Given the description of an element on the screen output the (x, y) to click on. 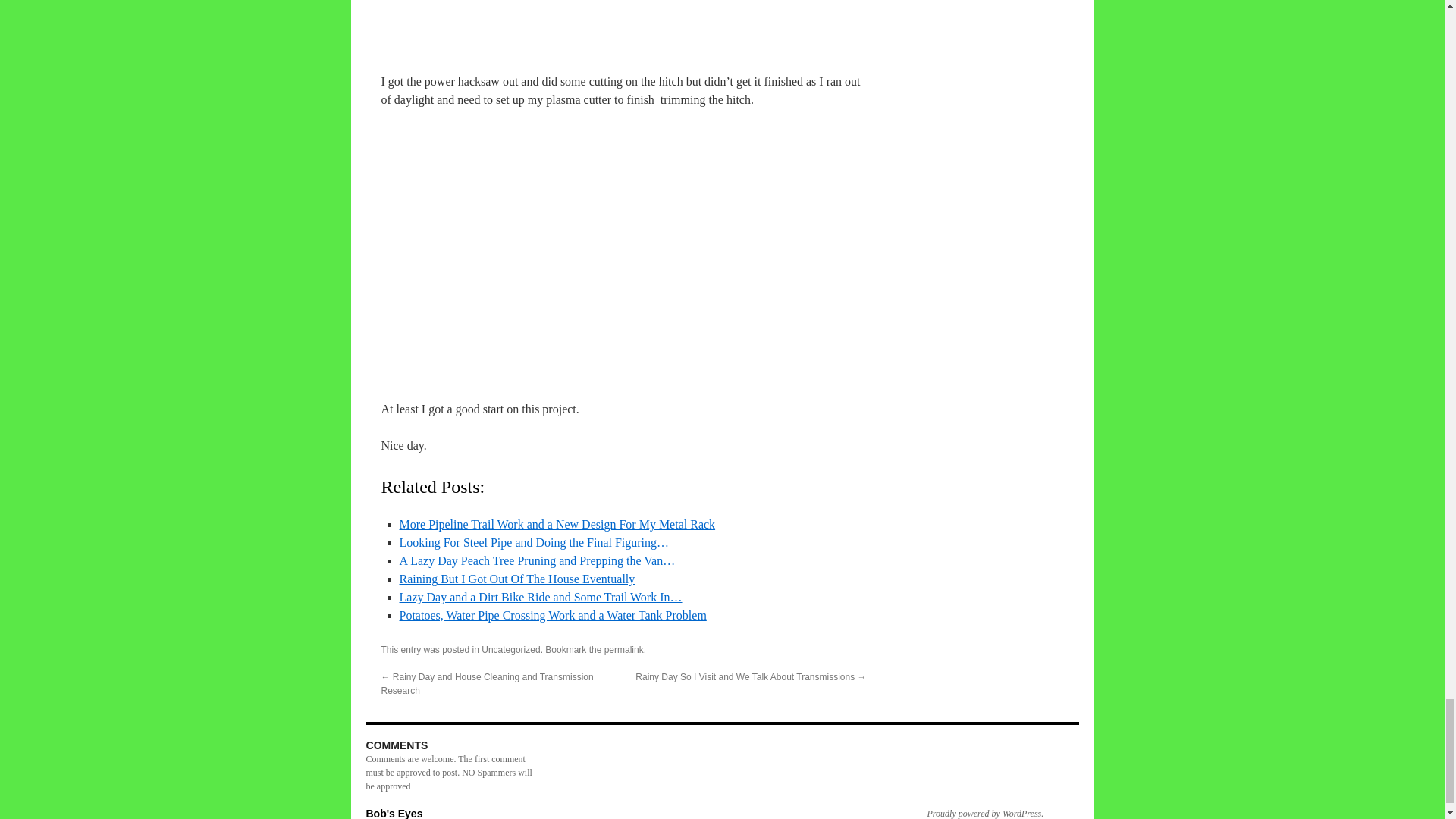
Potatoes, Water Pipe Crossing Work and a Water Tank Problem (552, 615)
Raining But I Got Out Of The House Eventually (516, 578)
permalink (623, 649)
Uncategorized (510, 649)
More Pipeline Trail Work and a New Design For My Metal Rack (556, 523)
